Given the description of an element on the screen output the (x, y) to click on. 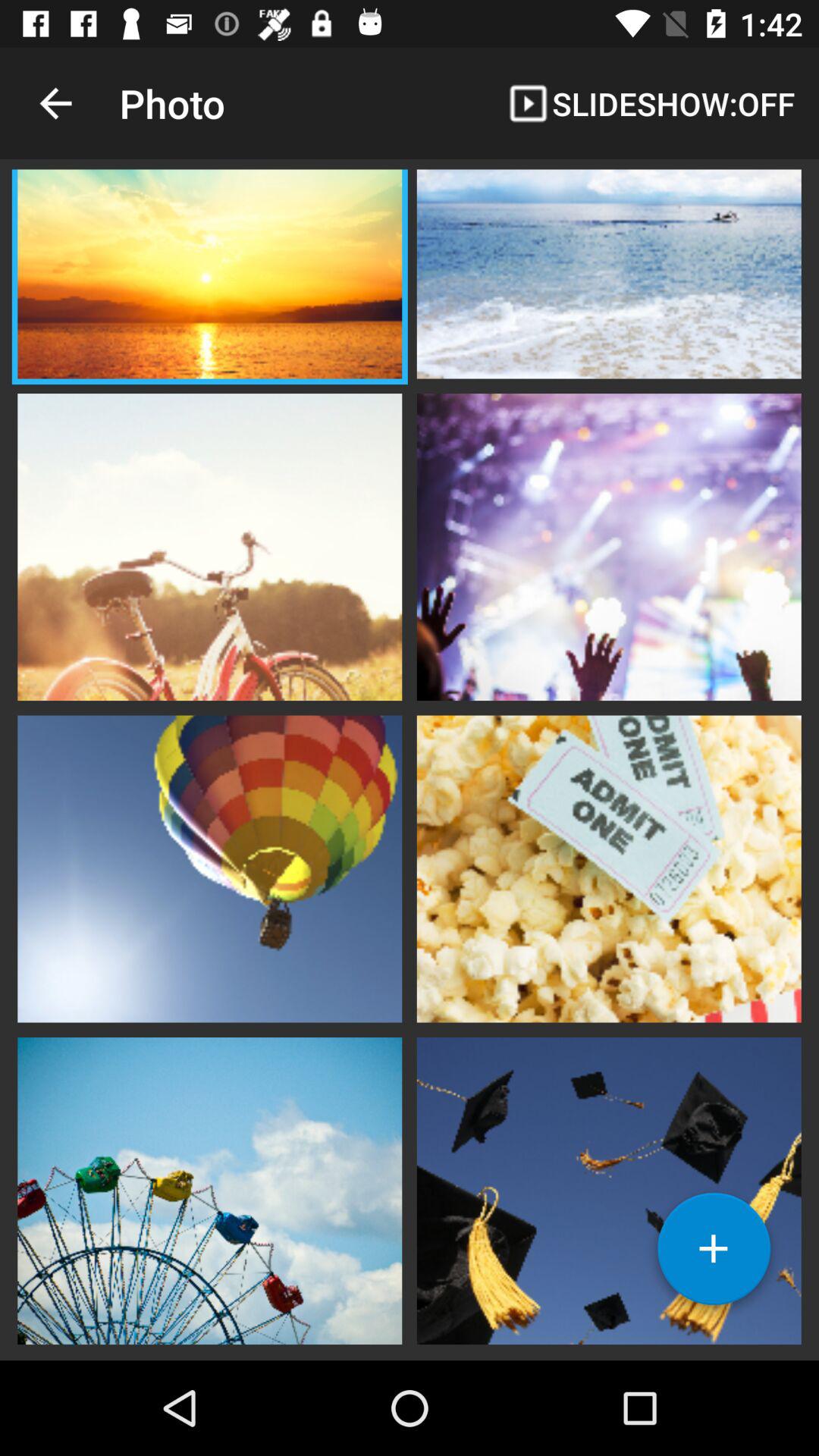
select picture (609, 1189)
